Given the description of an element on the screen output the (x, y) to click on. 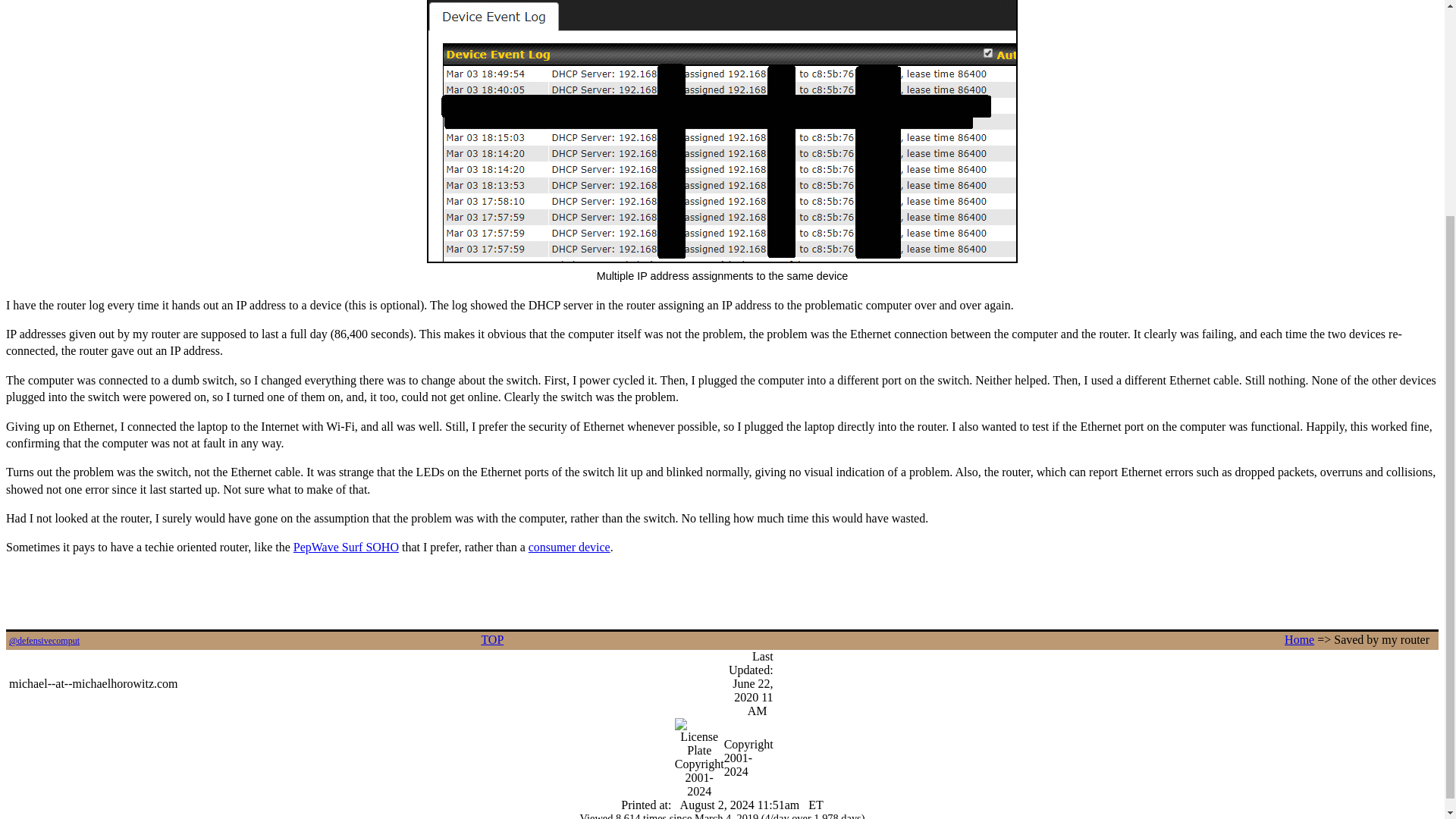
PepWave Surf SOHO (346, 546)
Follow me on Twitter (44, 640)
TOP (491, 639)
consumer device (569, 546)
Home (1299, 639)
